Given the description of an element on the screen output the (x, y) to click on. 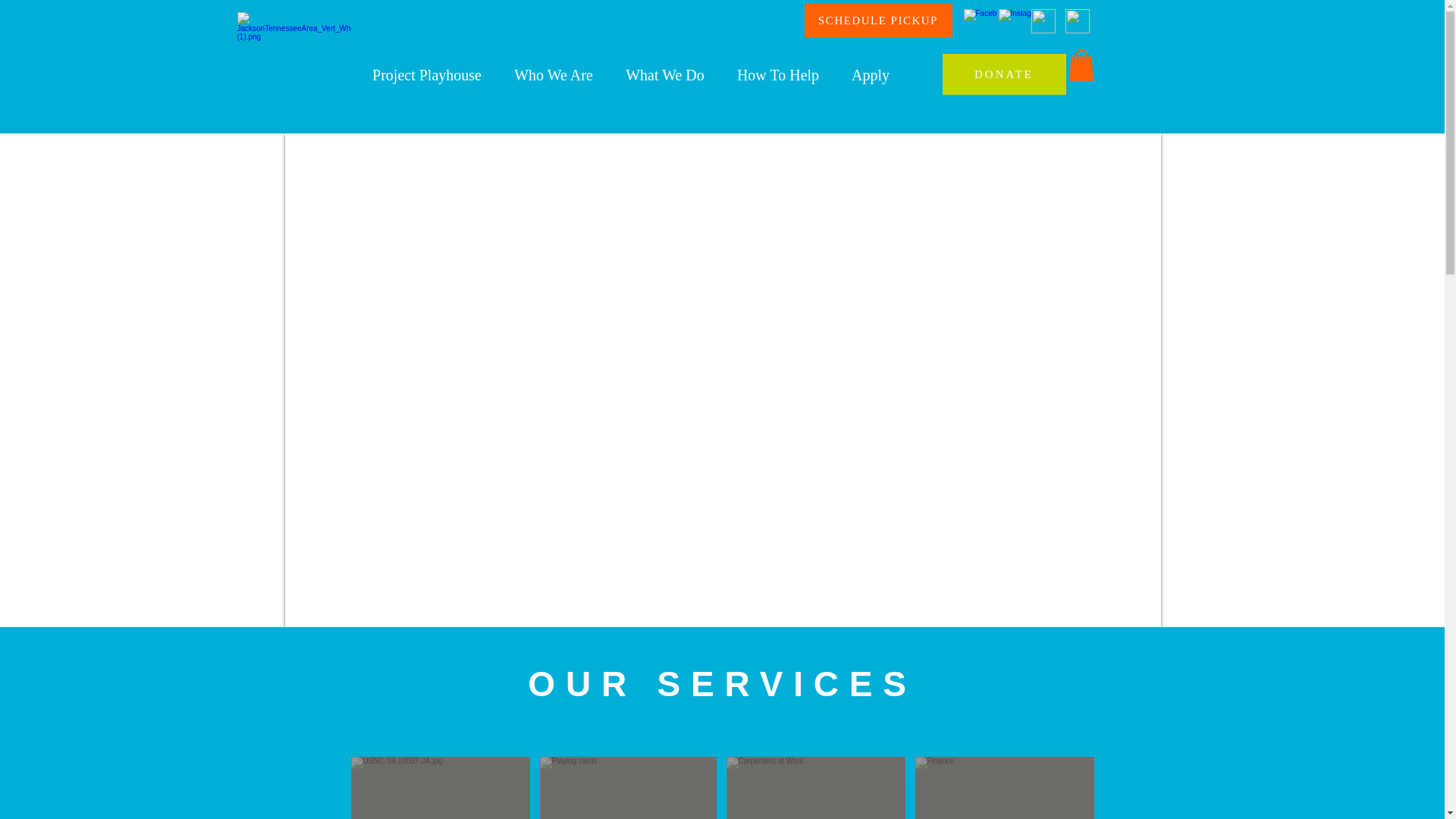
DONATE (1003, 74)
What We Do (665, 75)
How To Help (777, 75)
Who We Are (552, 75)
Project Playhouse (426, 75)
SCHEDULE PICKUP (877, 20)
